Given the description of an element on the screen output the (x, y) to click on. 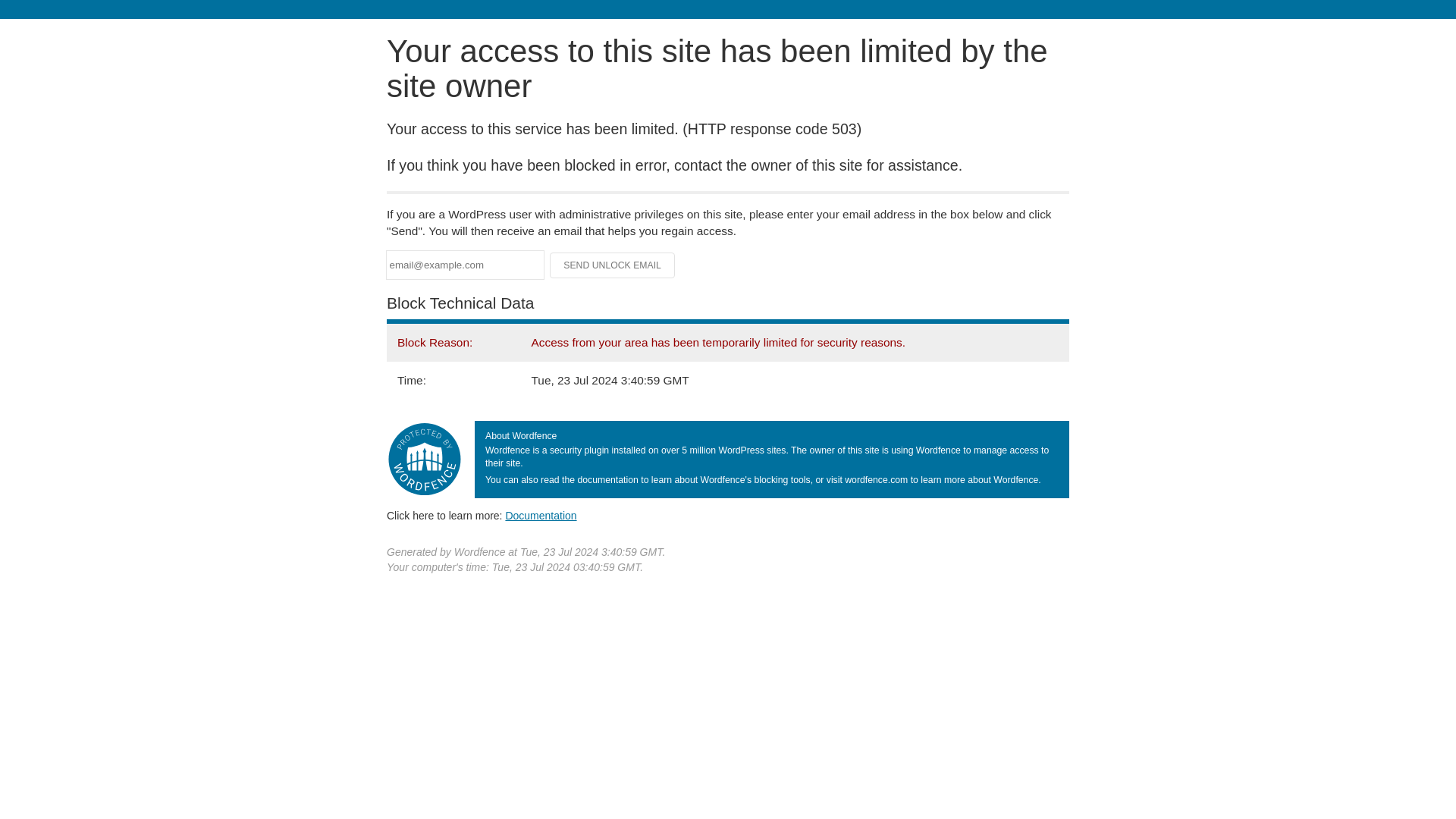
Documentation (540, 515)
Send Unlock Email (612, 265)
Send Unlock Email (612, 265)
